Given the description of an element on the screen output the (x, y) to click on. 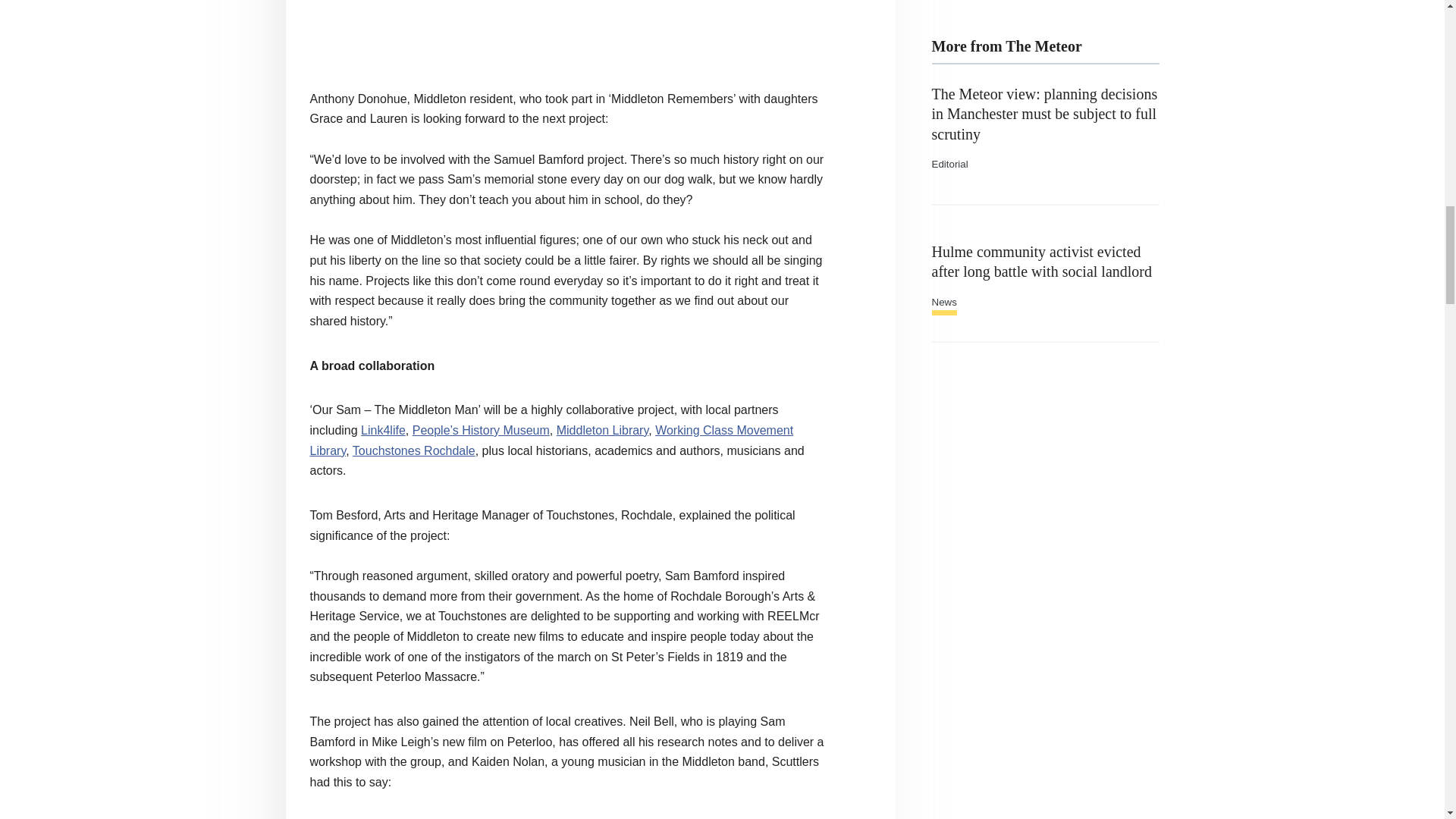
Middleton Remembers -  2014 - 8.29min - Middleton (568, 29)
Working Class Movement Library (550, 440)
Middleton Library (602, 430)
Touchstones Rochdale (414, 450)
Link4life (383, 430)
